Given the description of an element on the screen output the (x, y) to click on. 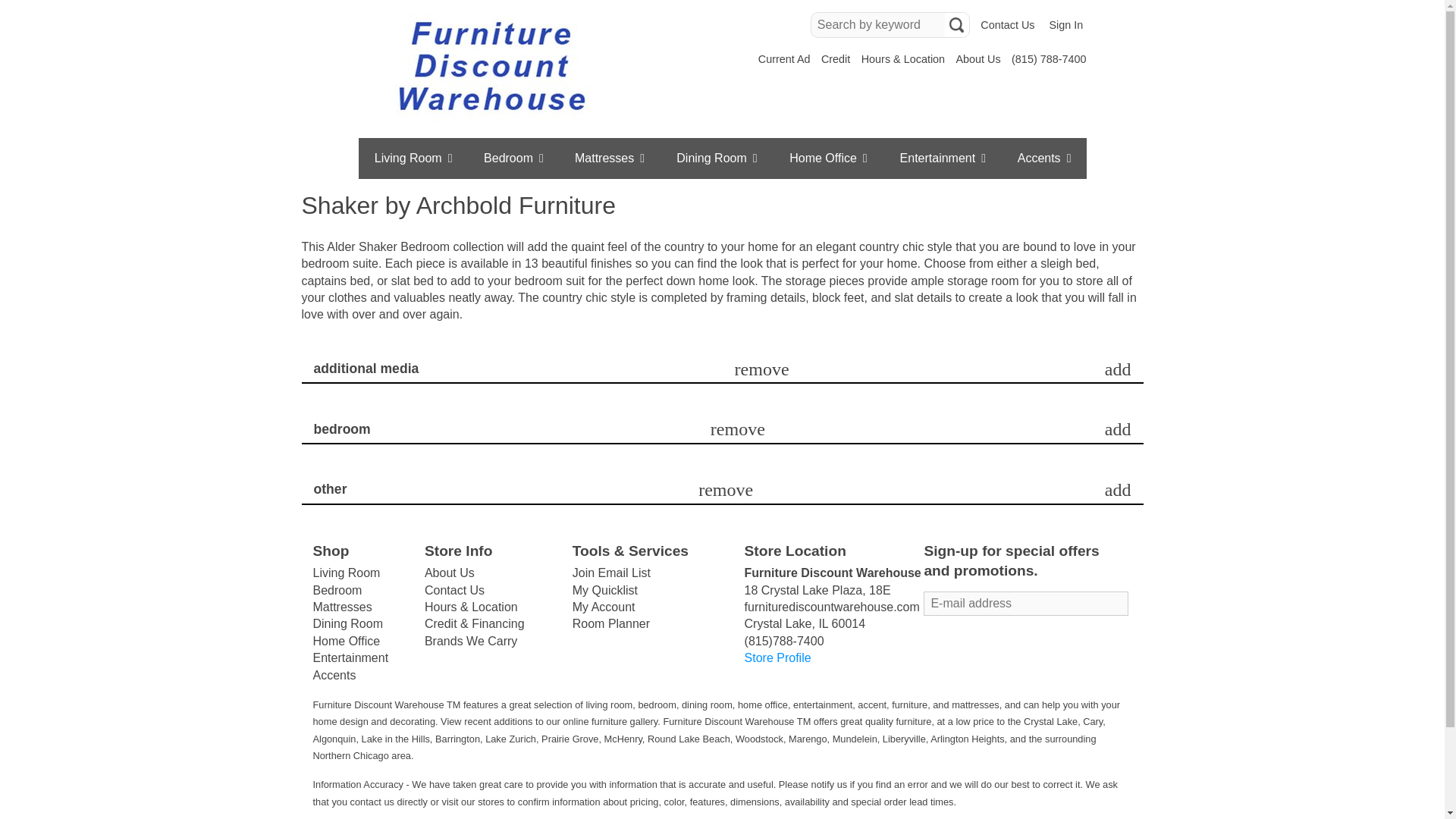
Current Ad (784, 59)
Contact Us (1007, 25)
Credit (835, 59)
About Us (977, 59)
Bedroom (513, 158)
Sign In (1065, 25)
Living Room (412, 158)
